Given the description of an element on the screen output the (x, y) to click on. 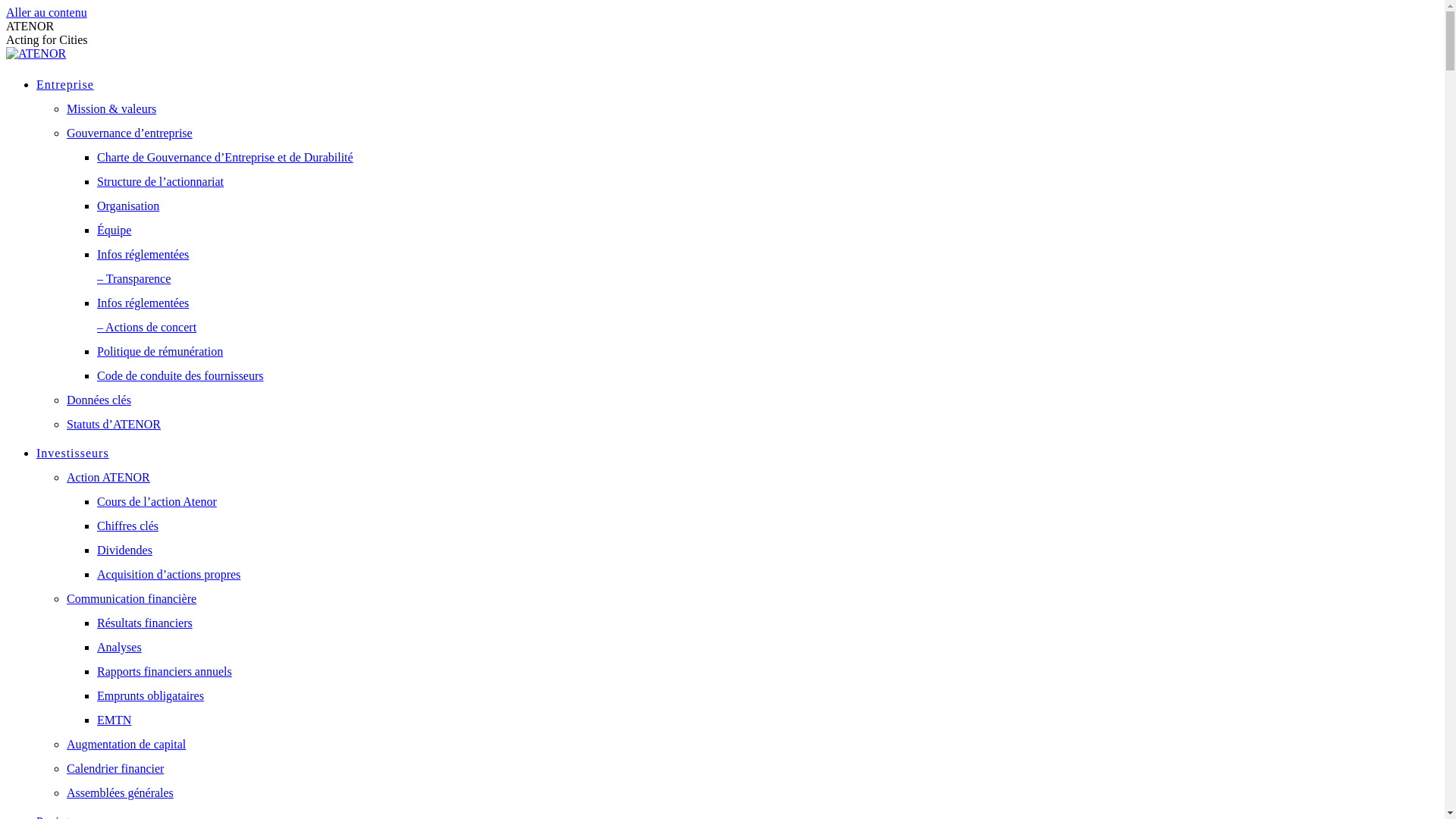
Rapports financiers annuels Element type: text (164, 671)
EMTN Element type: text (114, 719)
Aller au contenu Element type: text (46, 12)
Action ATENOR Element type: text (108, 476)
Investisseurs Element type: text (72, 452)
Dividendes Element type: text (124, 549)
Analyses Element type: text (119, 646)
Mission & valeurs Element type: text (111, 108)
Entreprise Element type: text (65, 84)
Calendrier financier Element type: text (114, 768)
Emprunts obligataires Element type: text (150, 695)
Code de conduite des fournisseurs Element type: text (180, 375)
Augmentation de capital Element type: text (125, 743)
Organisation Element type: text (128, 205)
